Given the description of an element on the screen output the (x, y) to click on. 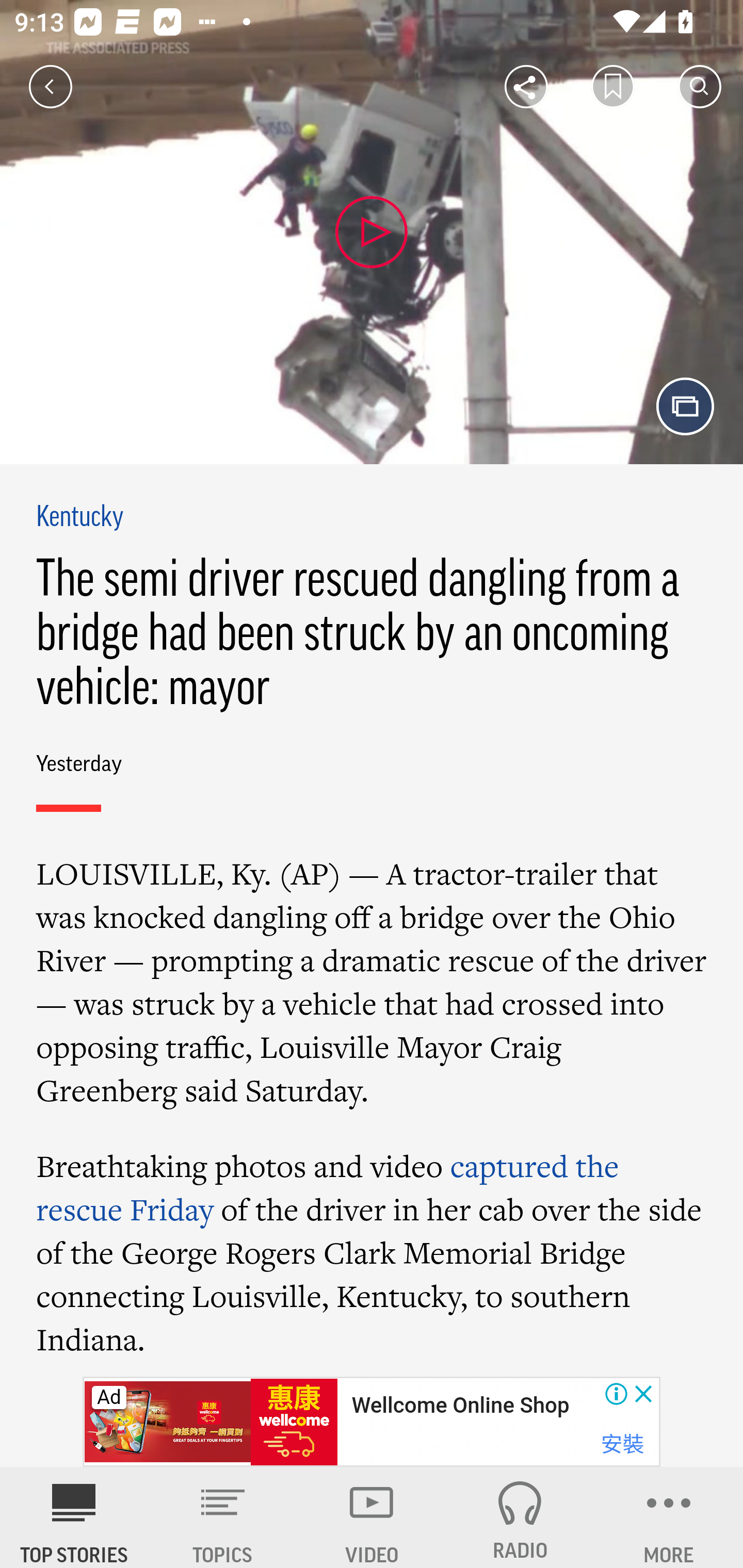
Kentucky (80, 518)
captured the rescue Friday (327, 1186)
Wellcome Online Shop (459, 1405)
安裝 (621, 1444)
AP News TOP STORIES (74, 1517)
TOPICS (222, 1517)
VIDEO (371, 1517)
RADIO (519, 1517)
MORE (668, 1517)
